Given the description of an element on the screen output the (x, y) to click on. 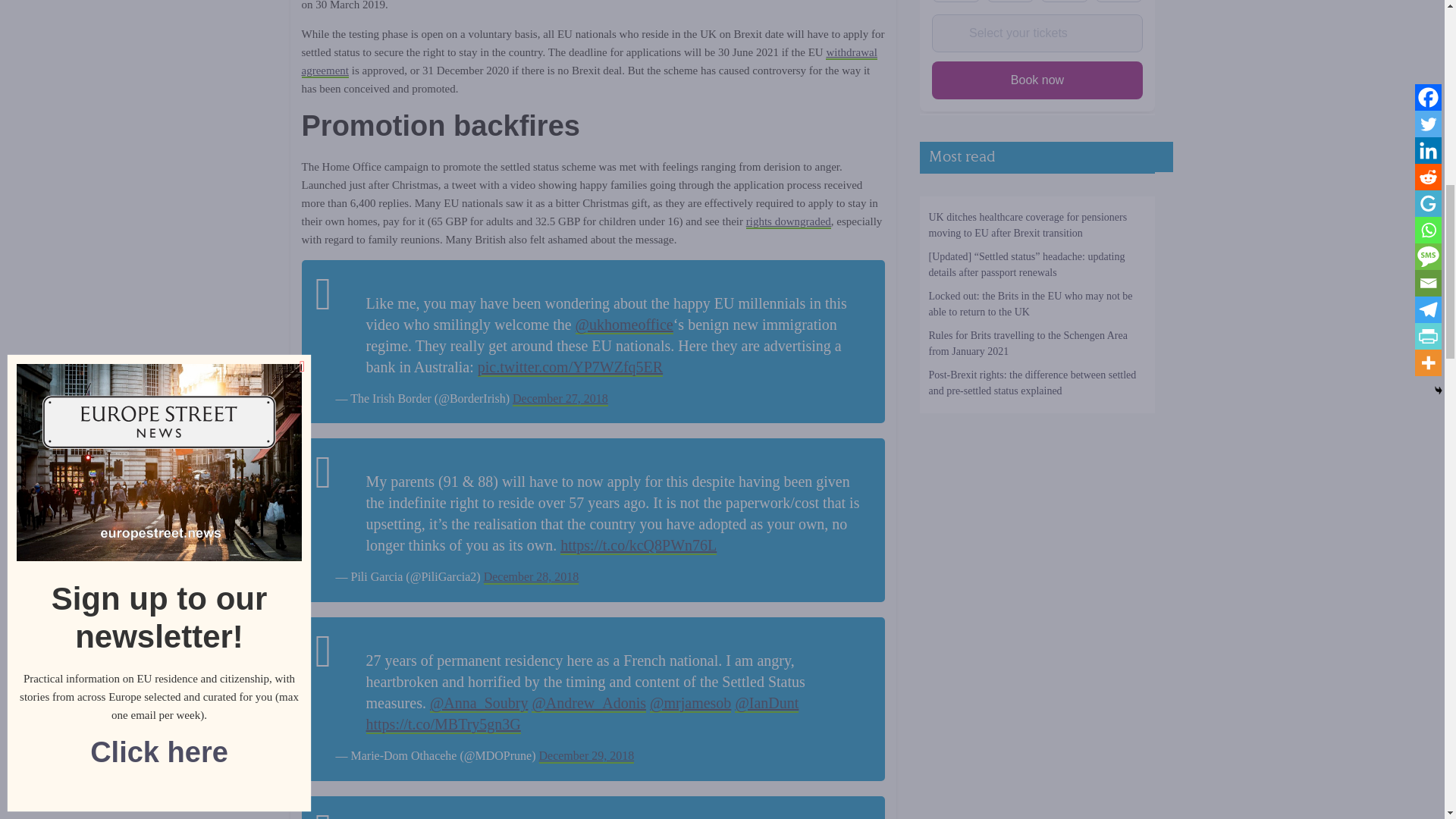
December 29, 2018 (585, 756)
withdrawal agreement (589, 61)
rights downgraded (788, 222)
December 27, 2018 (560, 399)
December 28, 2018 (531, 577)
